Given the description of an element on the screen output the (x, y) to click on. 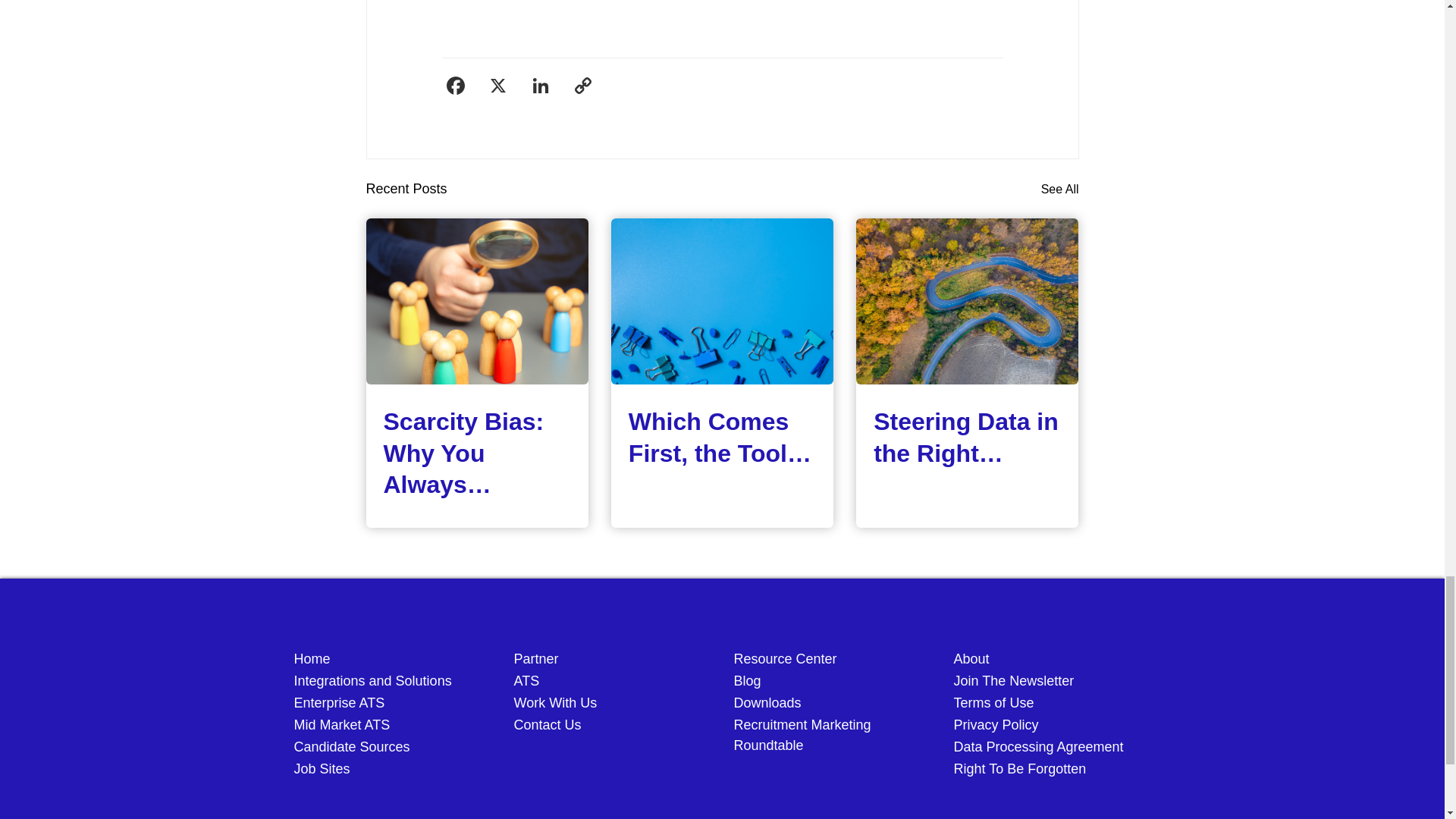
X (497, 87)
Facebook (454, 87)
LinkedIn (539, 87)
Copy Link (582, 87)
